Given the description of an element on the screen output the (x, y) to click on. 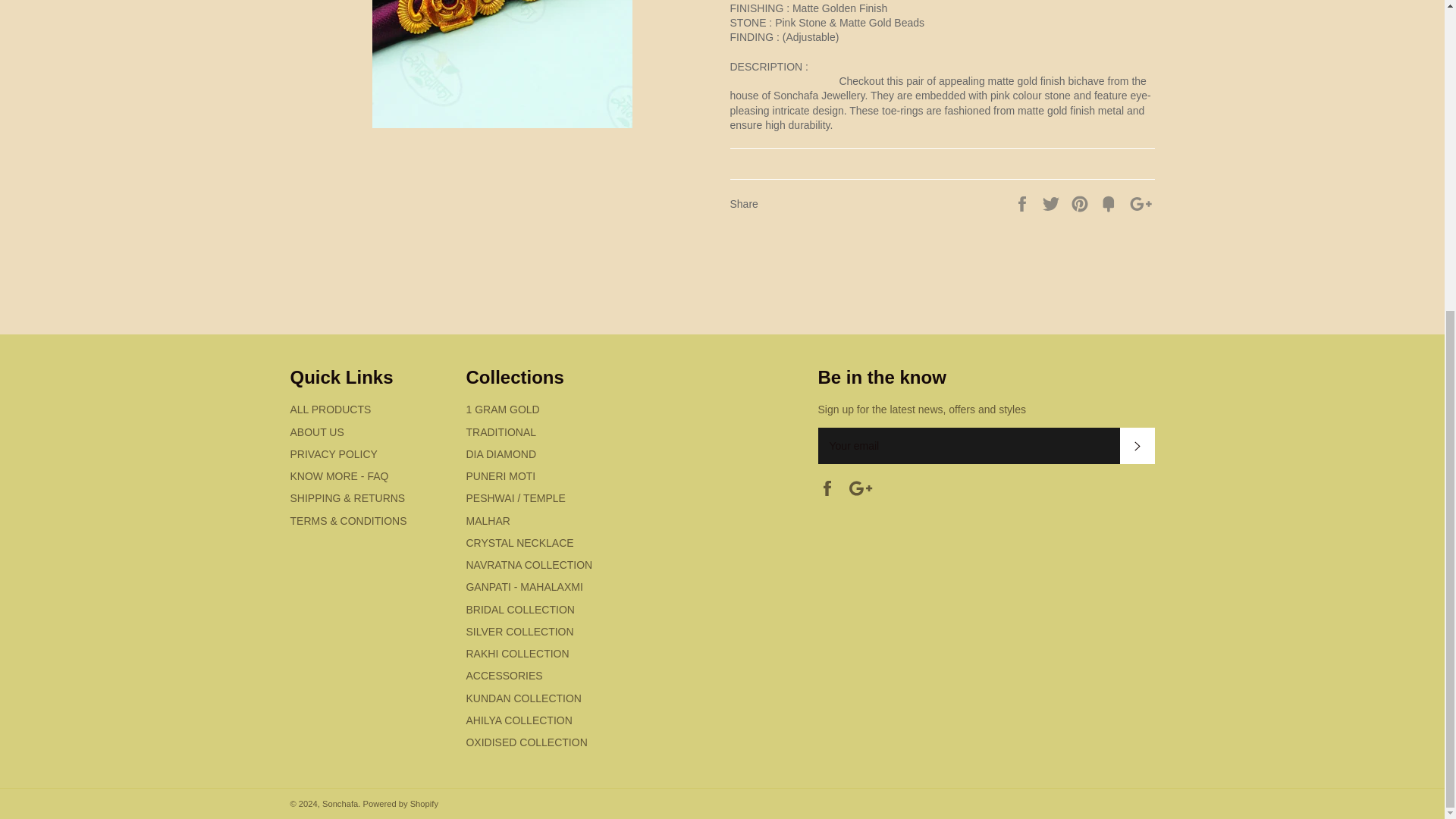
Tweet on Twitter (1052, 203)
Add to Fancy (1110, 203)
Sonchafa on Google Plus (863, 486)
Share on Facebook (1023, 203)
Sonchafa on Facebook (829, 486)
Pin on Pinterest (1081, 203)
